Given the description of an element on the screen output the (x, y) to click on. 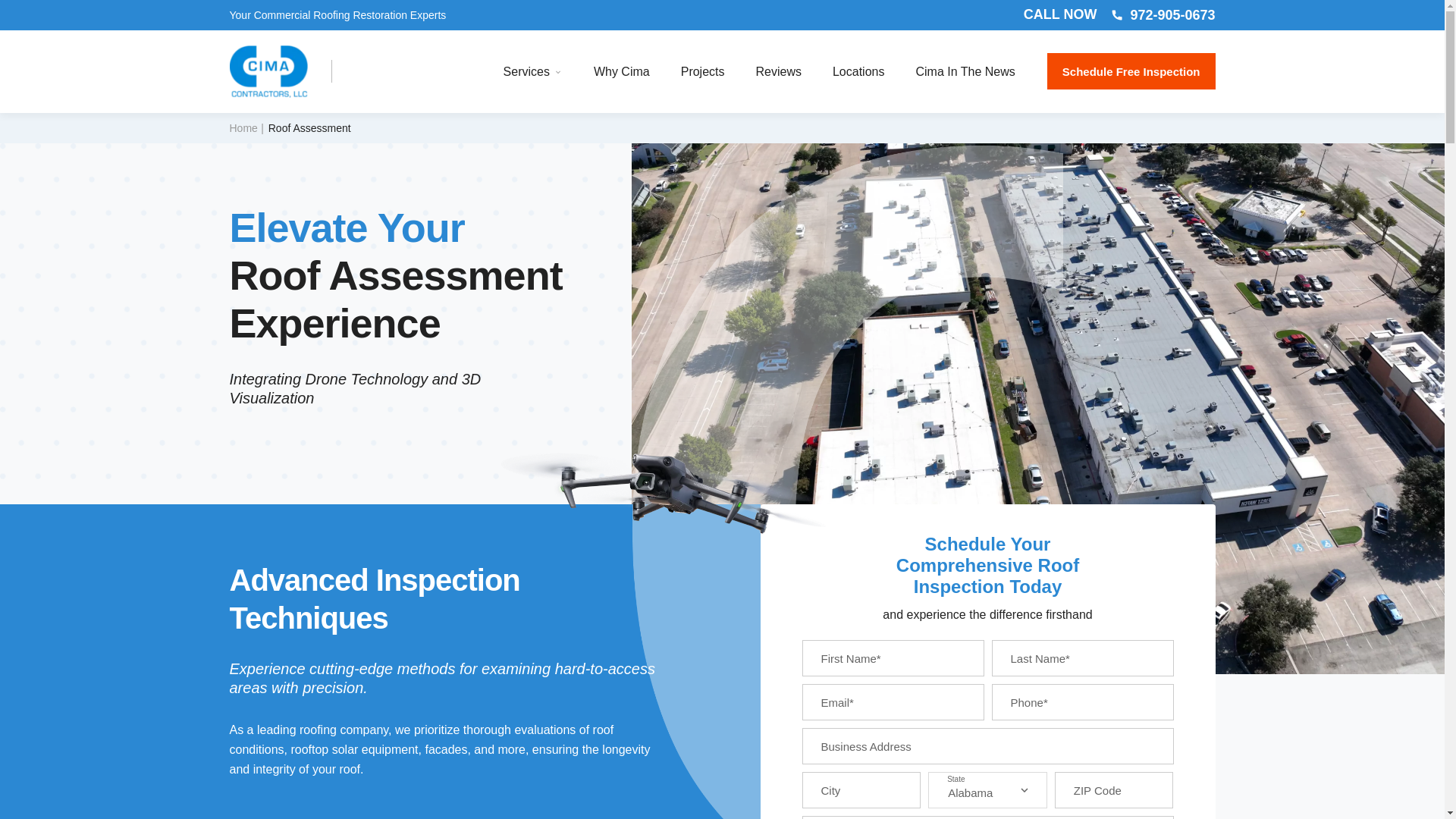
Why Cima (621, 71)
Services (526, 71)
Home (246, 128)
Projects (703, 71)
Reviews (777, 71)
Submenu for "Services" (558, 71)
972-905-0673 (1163, 14)
Cima In The News (964, 71)
Locations (858, 71)
Schedule Free Inspection (1130, 71)
